Given the description of an element on the screen output the (x, y) to click on. 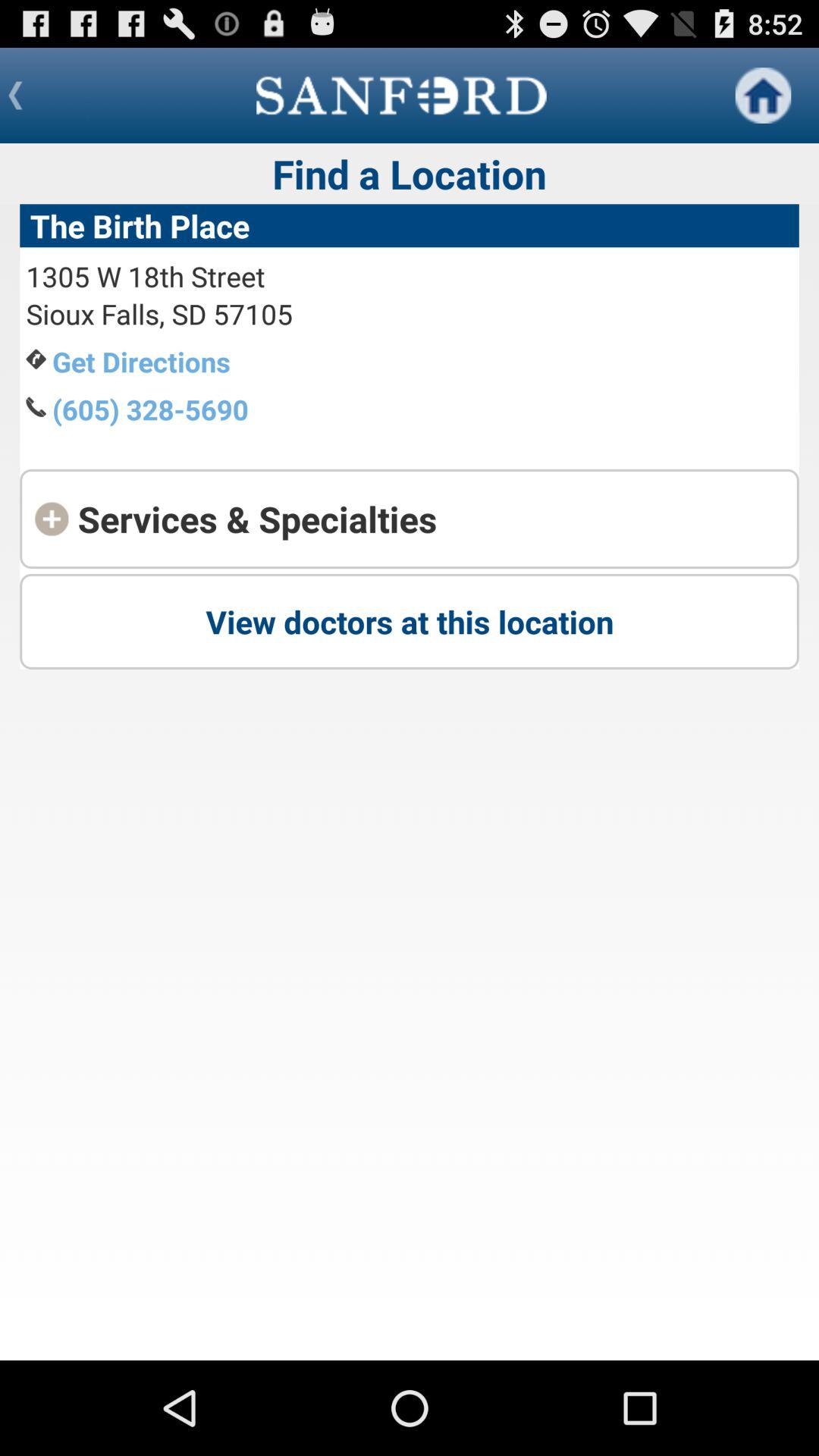
click on get directions (141, 361)
click on the last button (409, 621)
click on the first icon (763, 95)
select the icon to the left of the text get directions (35, 359)
